Given the description of an element on the screen output the (x, y) to click on. 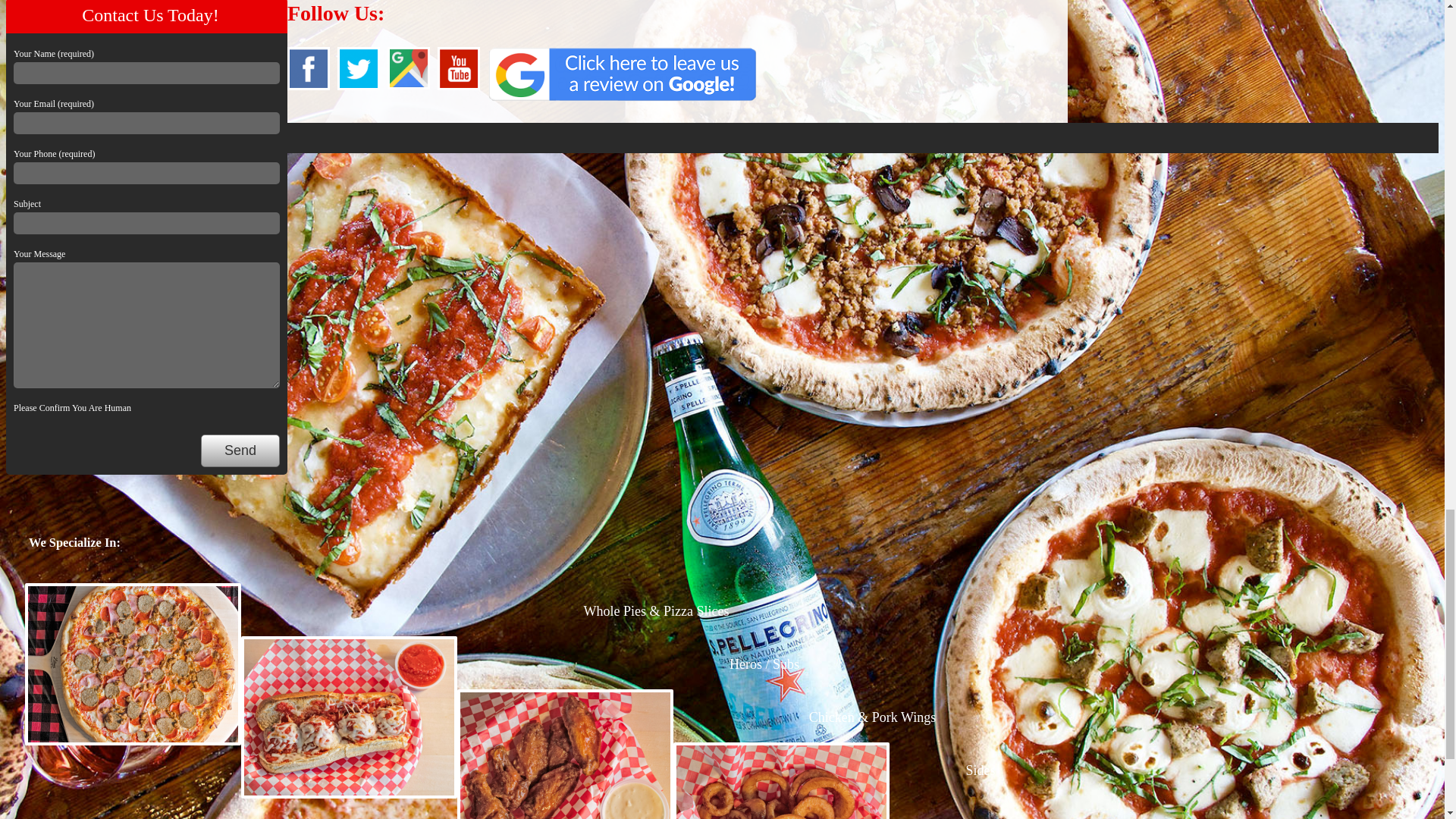
Sides (979, 770)
Send (239, 450)
Send (239, 450)
